Given the description of an element on the screen output the (x, y) to click on. 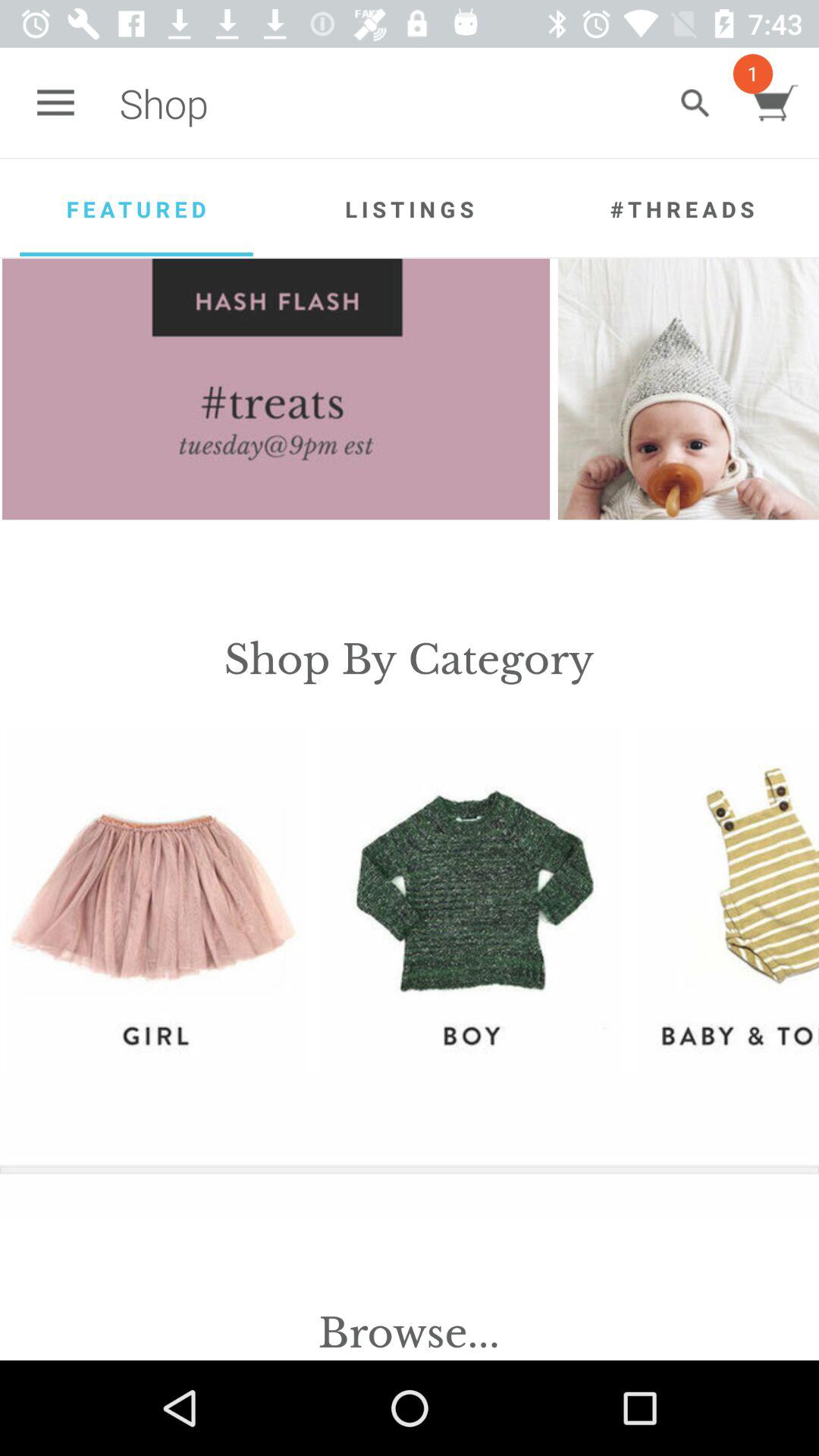
turn on icon above shop by category (275, 388)
